Given the description of an element on the screen output the (x, y) to click on. 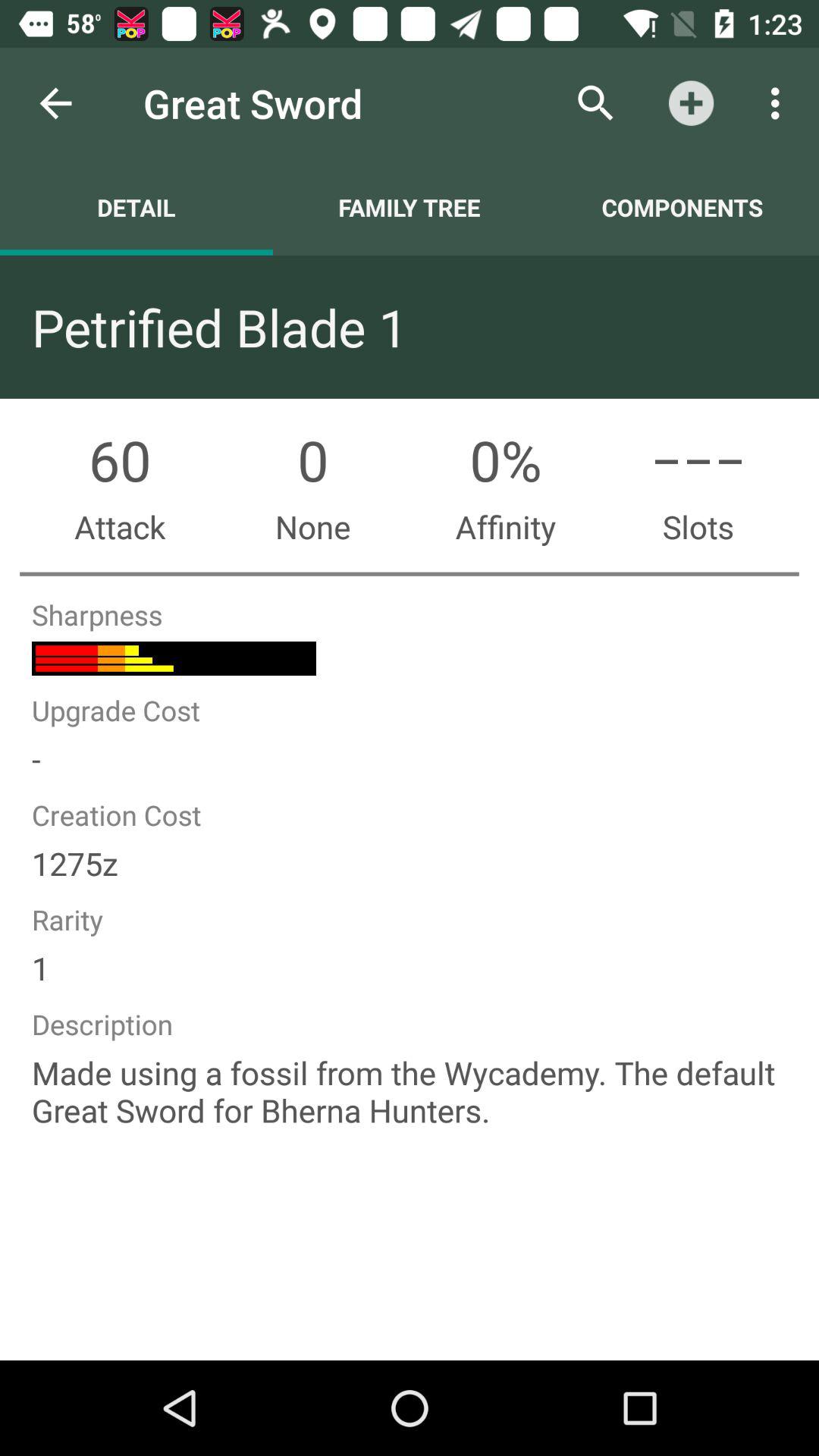
turn on the app to the left of the components item (409, 207)
